Given the description of an element on the screen output the (x, y) to click on. 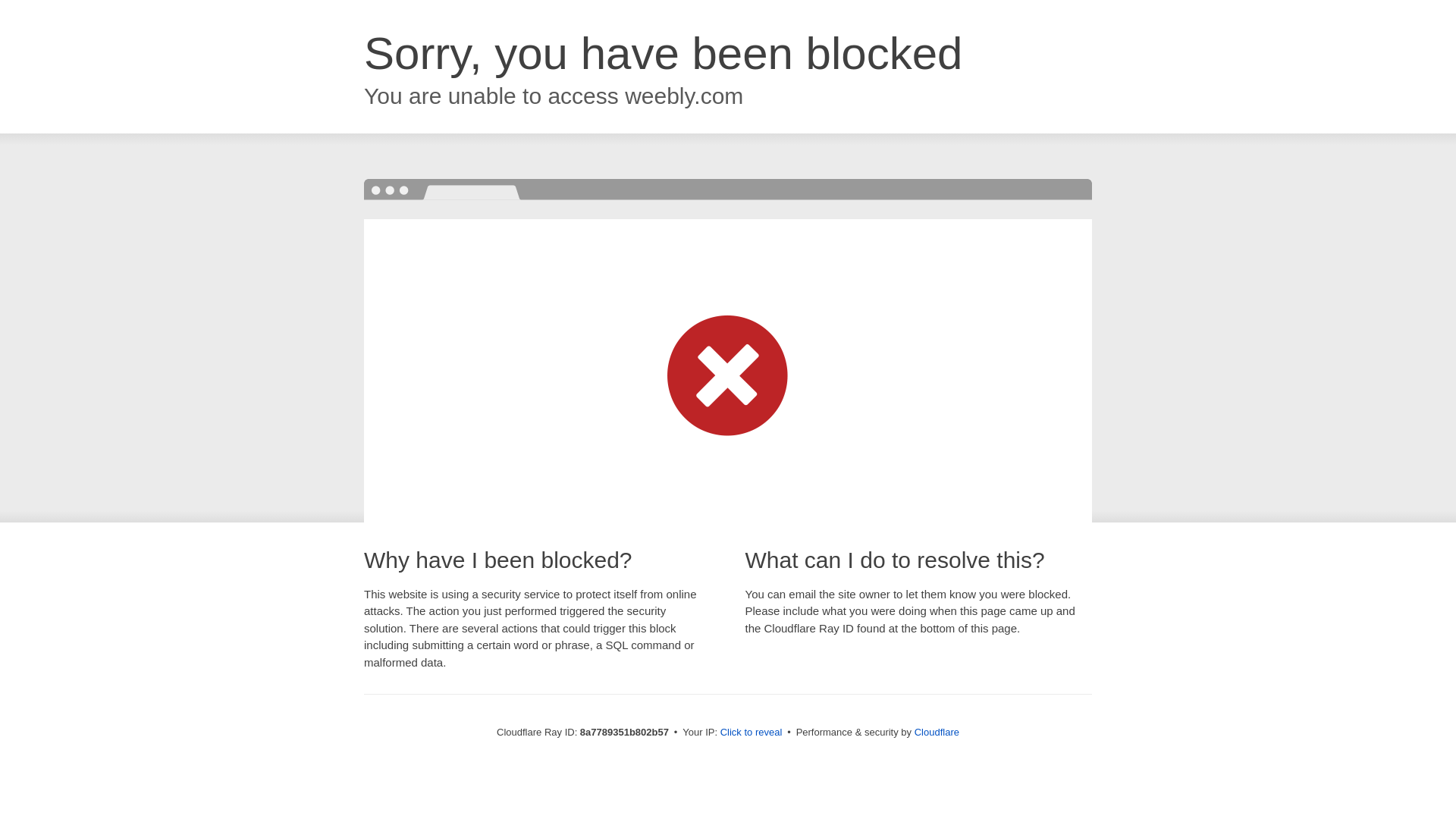
Click to reveal (751, 732)
Cloudflare (936, 731)
